Given the description of an element on the screen output the (x, y) to click on. 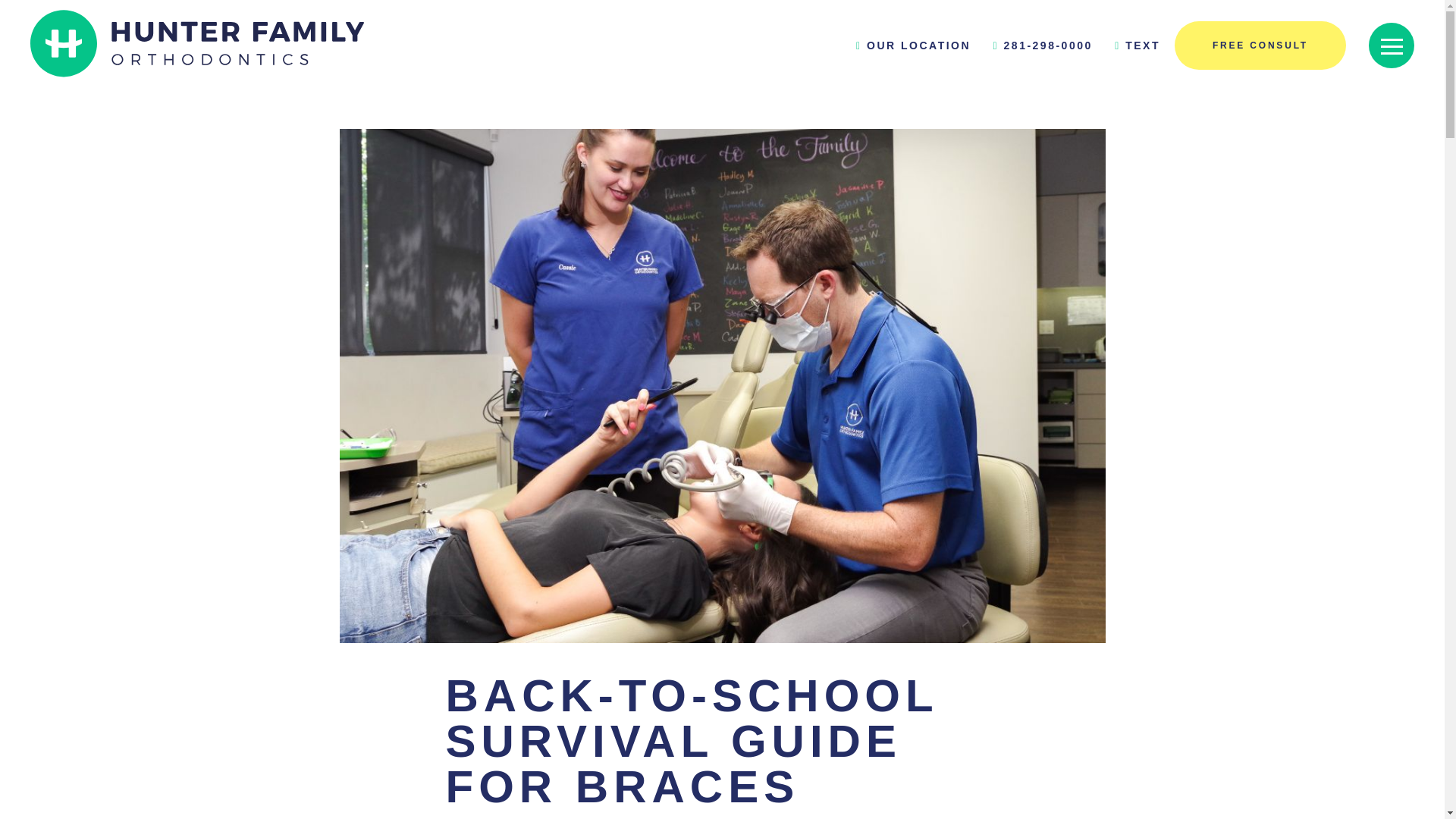
OUR LOCATION (904, 45)
TEXT (1128, 45)
FREE CONSULT (1259, 45)
281-298-0000 (1033, 45)
